Given the description of an element on the screen output the (x, y) to click on. 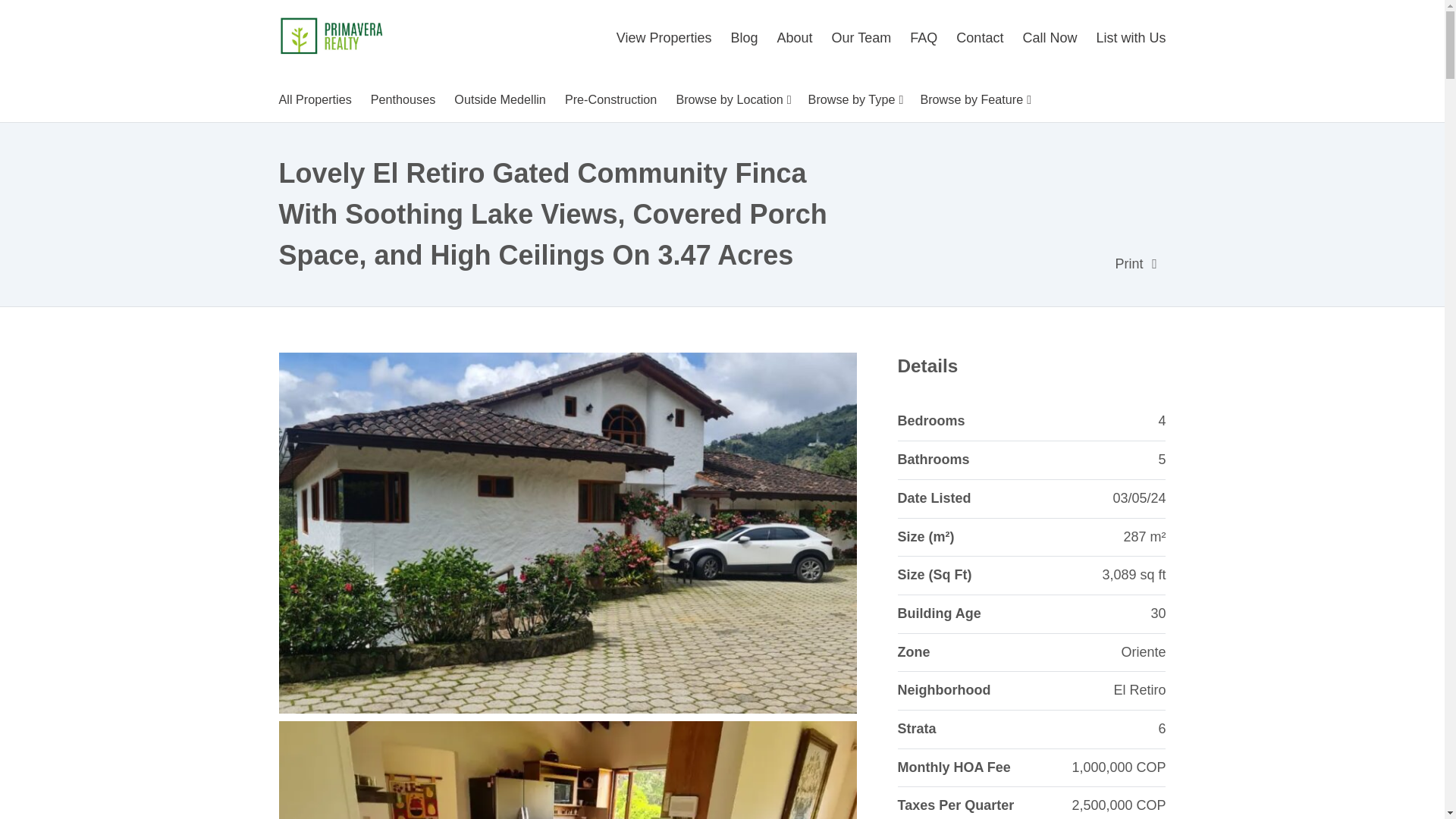
Browse by Feature (974, 99)
View Properties (667, 37)
Call Now (1049, 37)
Blog (744, 37)
Our Team (861, 37)
Browse by Location (732, 99)
Penthouses (403, 99)
Outside Medellin (499, 99)
Pre-Construction (610, 99)
All Properties (319, 99)
